Given the description of an element on the screen output the (x, y) to click on. 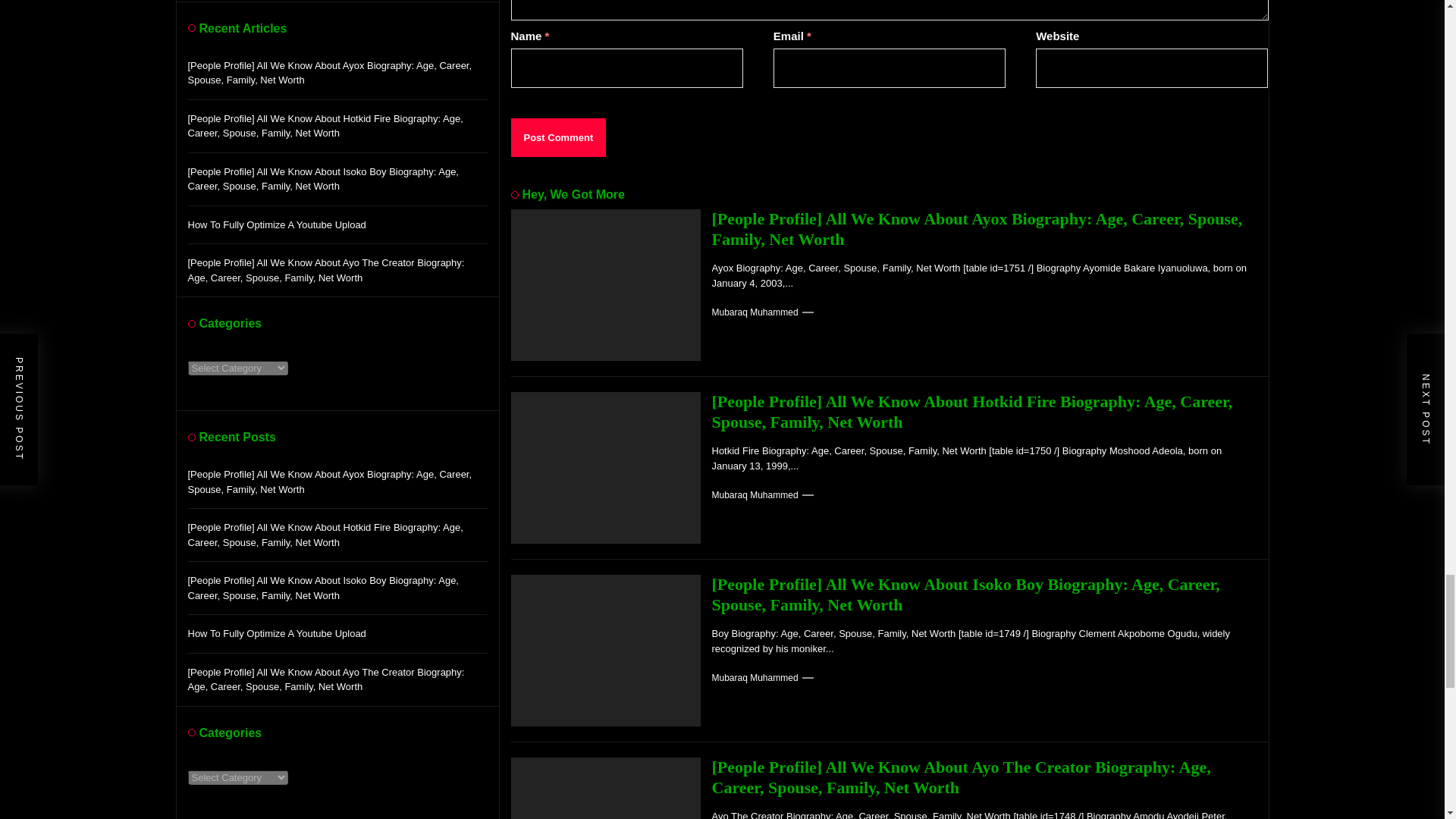
Post Comment (559, 137)
